Given the description of an element on the screen output the (x, y) to click on. 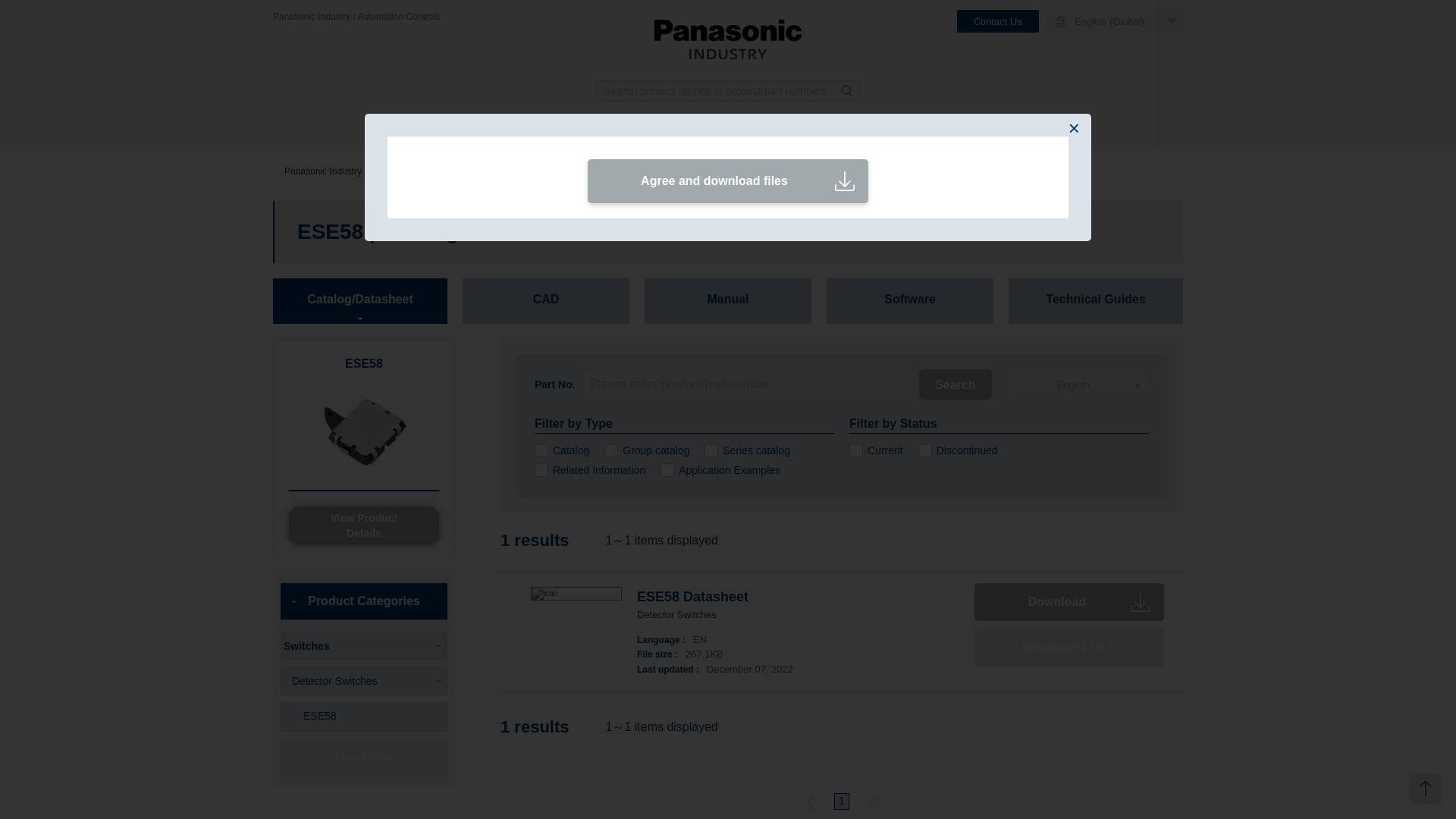
Contact Us (997, 20)
Search (954, 384)
